Given the description of an element on the screen output the (x, y) to click on. 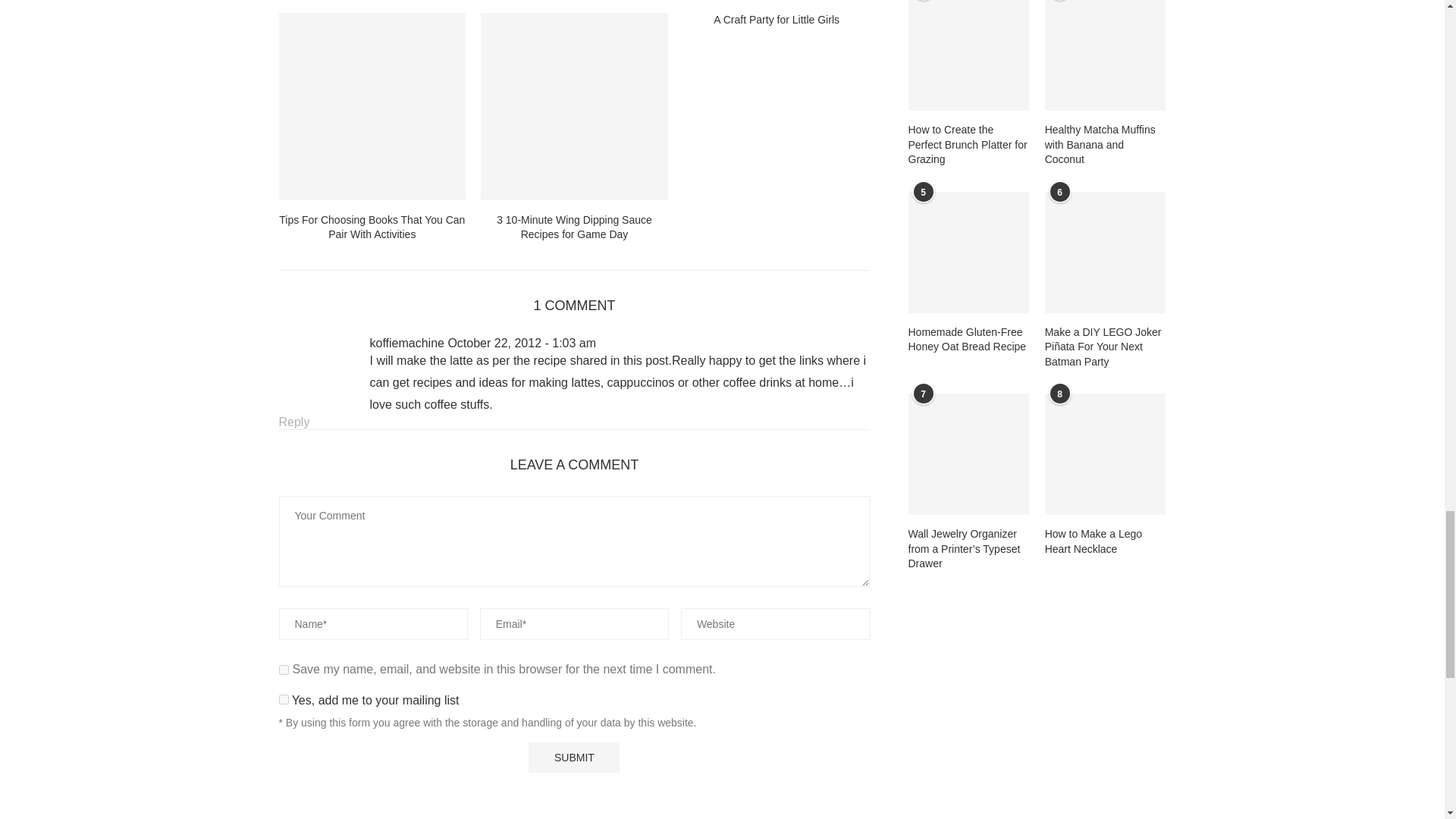
Submit (574, 757)
Tips For Choosing Books That You Can Pair With Activities (372, 106)
1 (283, 699)
yes (283, 669)
